Given the description of an element on the screen output the (x, y) to click on. 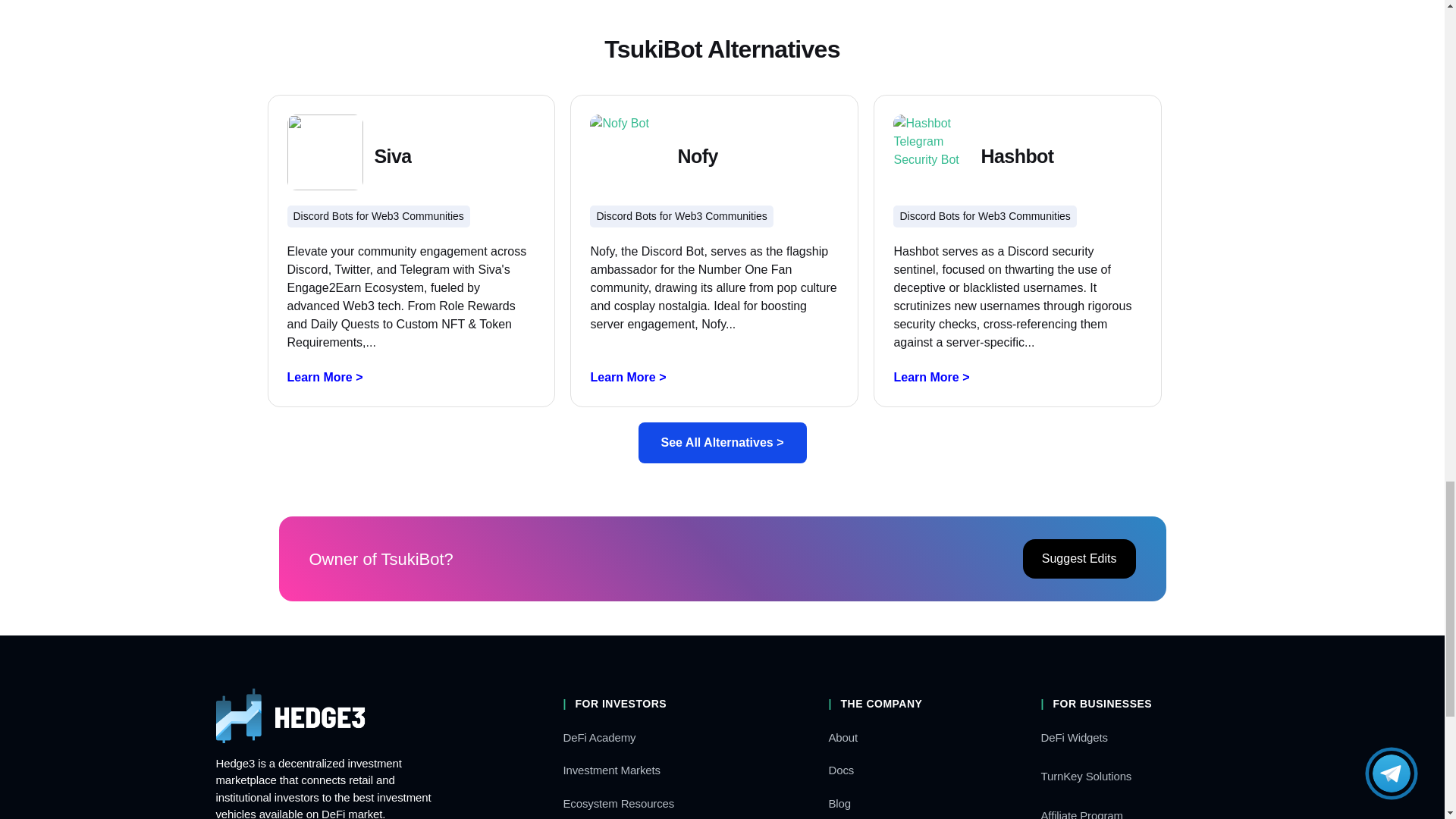
Ecosystem Resources (618, 802)
Investment Markets (610, 769)
Suggest Edits (1079, 558)
DeFi Academy (598, 737)
